Given the description of an element on the screen output the (x, y) to click on. 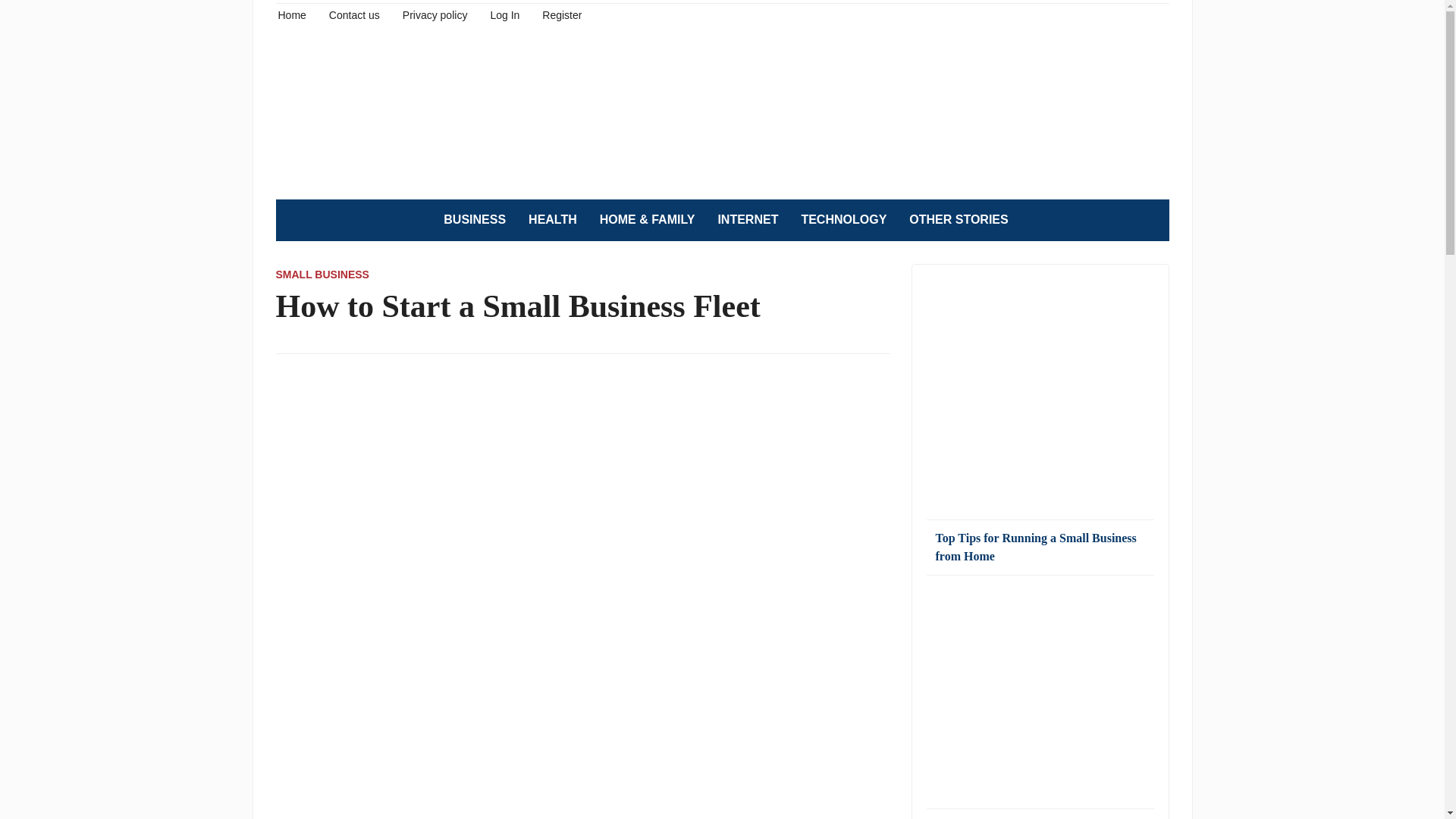
Search (1149, 219)
Log In (504, 14)
Home (291, 14)
Privacy policy (435, 14)
Register (560, 14)
Contact us (354, 14)
